Given the description of an element on the screen output the (x, y) to click on. 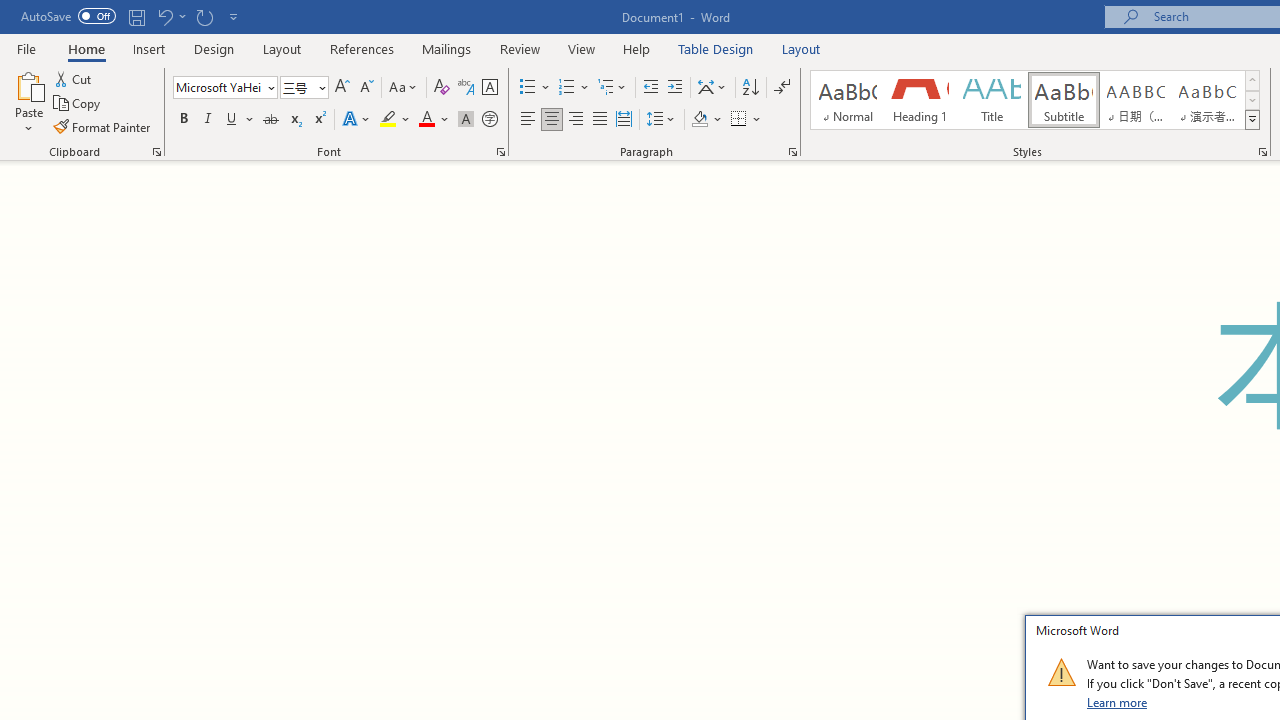
Character Shading (465, 119)
Undo Grow Font (170, 15)
Subscript (294, 119)
Increase Indent (675, 87)
Cut (73, 78)
Multilevel List (613, 87)
Copy (78, 103)
Undo Grow Font (164, 15)
